Given the description of an element on the screen output the (x, y) to click on. 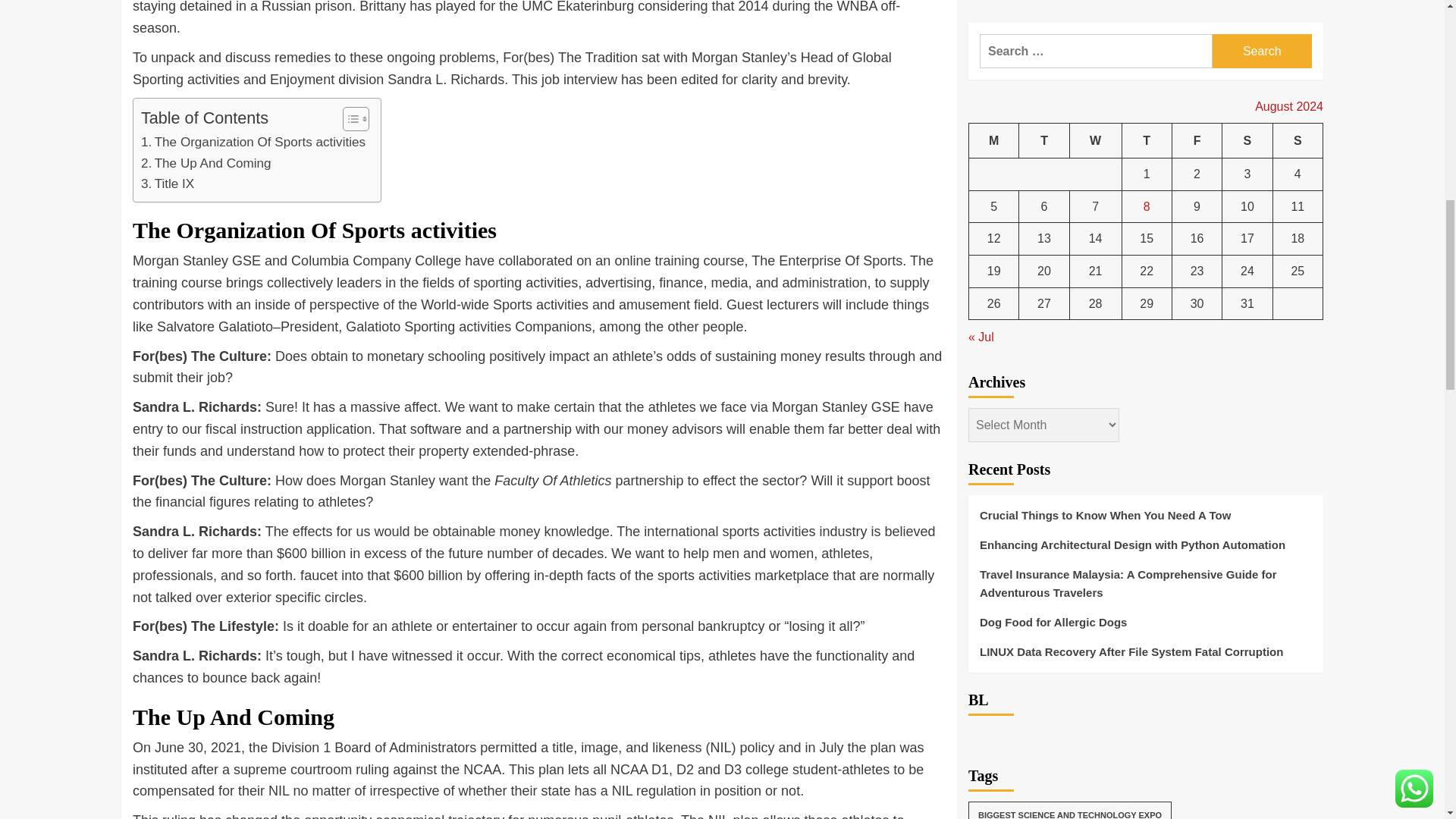
The Up And Coming (205, 163)
The Organization Of Sports activities (253, 141)
Title IX (167, 183)
The Up And Coming (205, 163)
The Organization Of Sports activities (253, 141)
Title IX (167, 183)
